Given the description of an element on the screen output the (x, y) to click on. 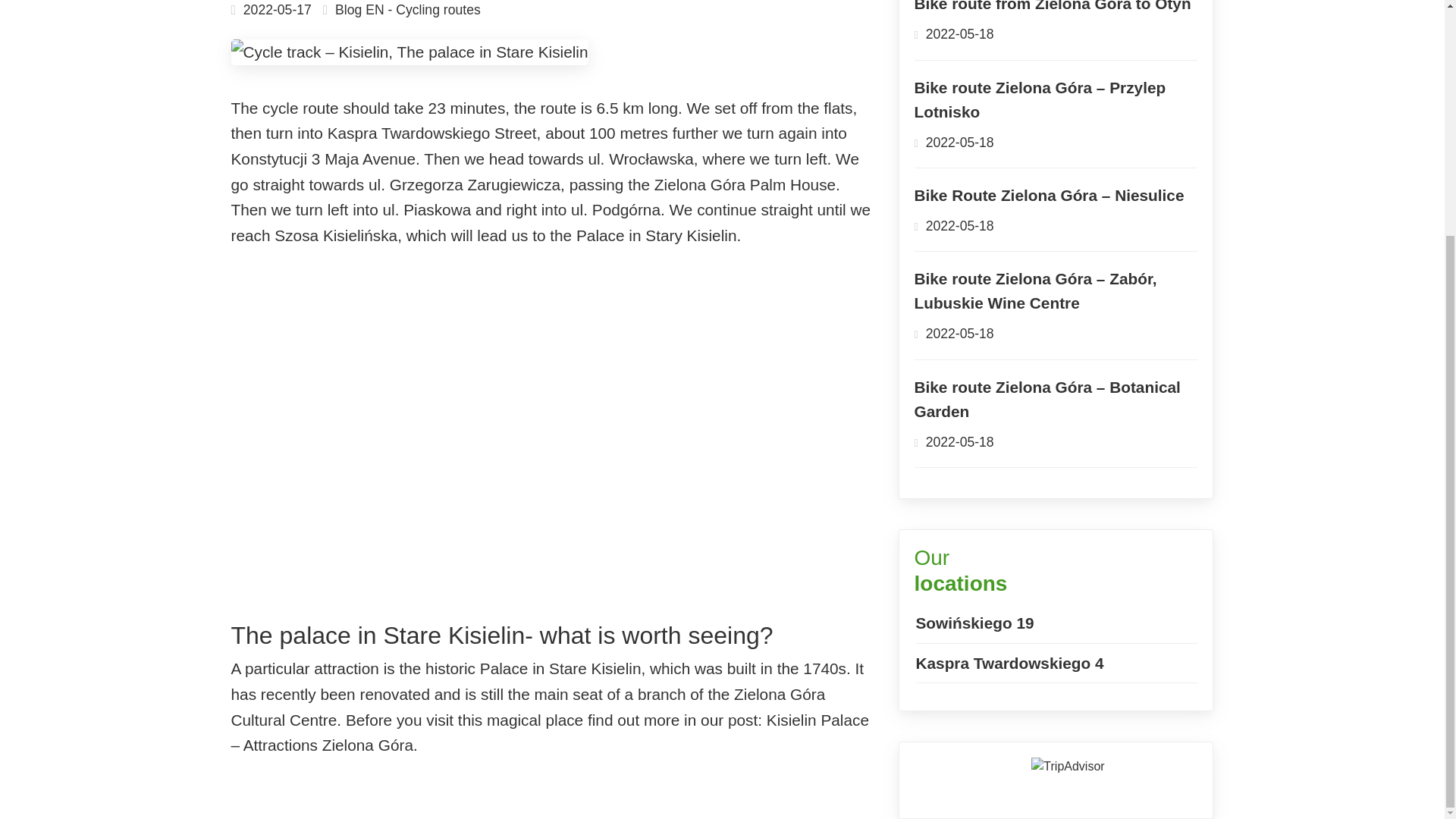
Blog EN (359, 9)
Zobacz wszystkie wpisy Cycling routes (438, 9)
Kaspra Twardowskiego 4 (1009, 662)
Zobacz wszystkie wpisy Blog EN (359, 9)
Cycling routes (438, 9)
